Given the description of an element on the screen output the (x, y) to click on. 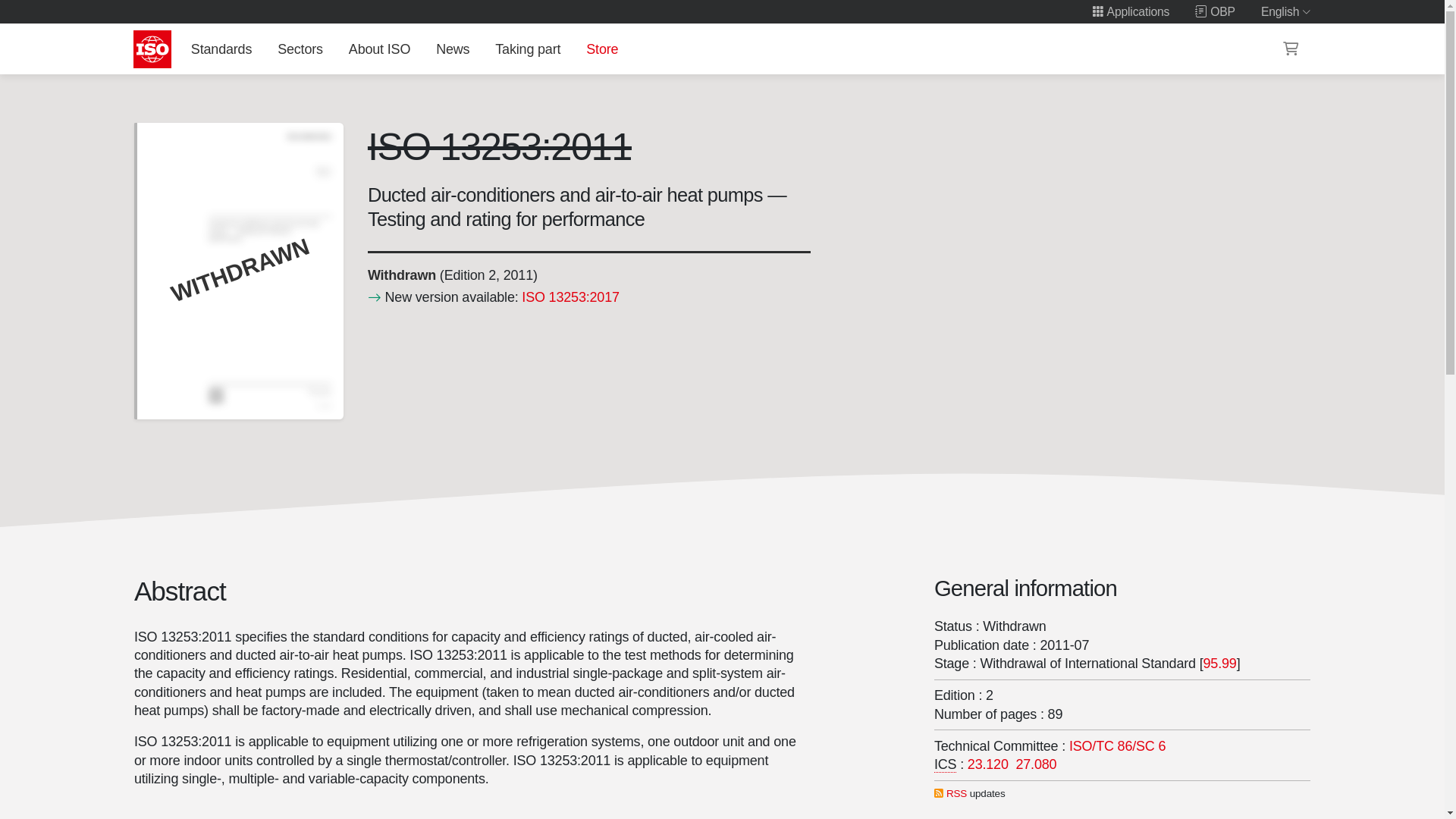
News (452, 48)
Taking part (528, 48)
Withdrawn (400, 274)
Store (601, 48)
23.120 (988, 764)
 OBP (1214, 11)
95.99 (1220, 663)
RSS (956, 793)
International Organization for Standardization (152, 48)
